Given the description of an element on the screen output the (x, y) to click on. 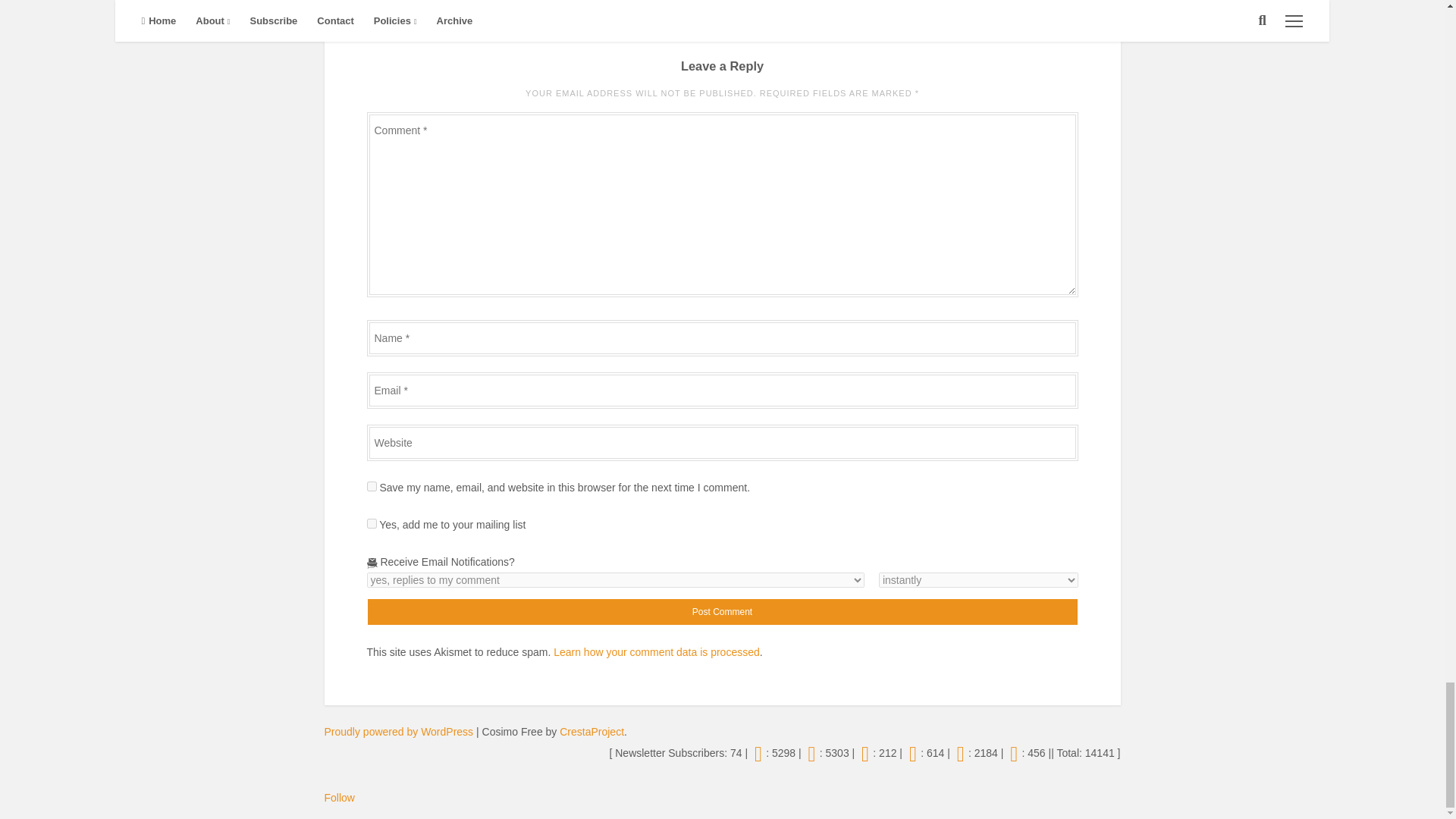
Notify Me (978, 580)
Twitter (758, 752)
Instagram (812, 752)
CrestaProject (591, 731)
YouTube (912, 752)
Facebook (864, 752)
yes (371, 486)
Post Comment (722, 611)
1 (371, 523)
Receive Notifications? (615, 580)
